Given the description of an element on the screen output the (x, y) to click on. 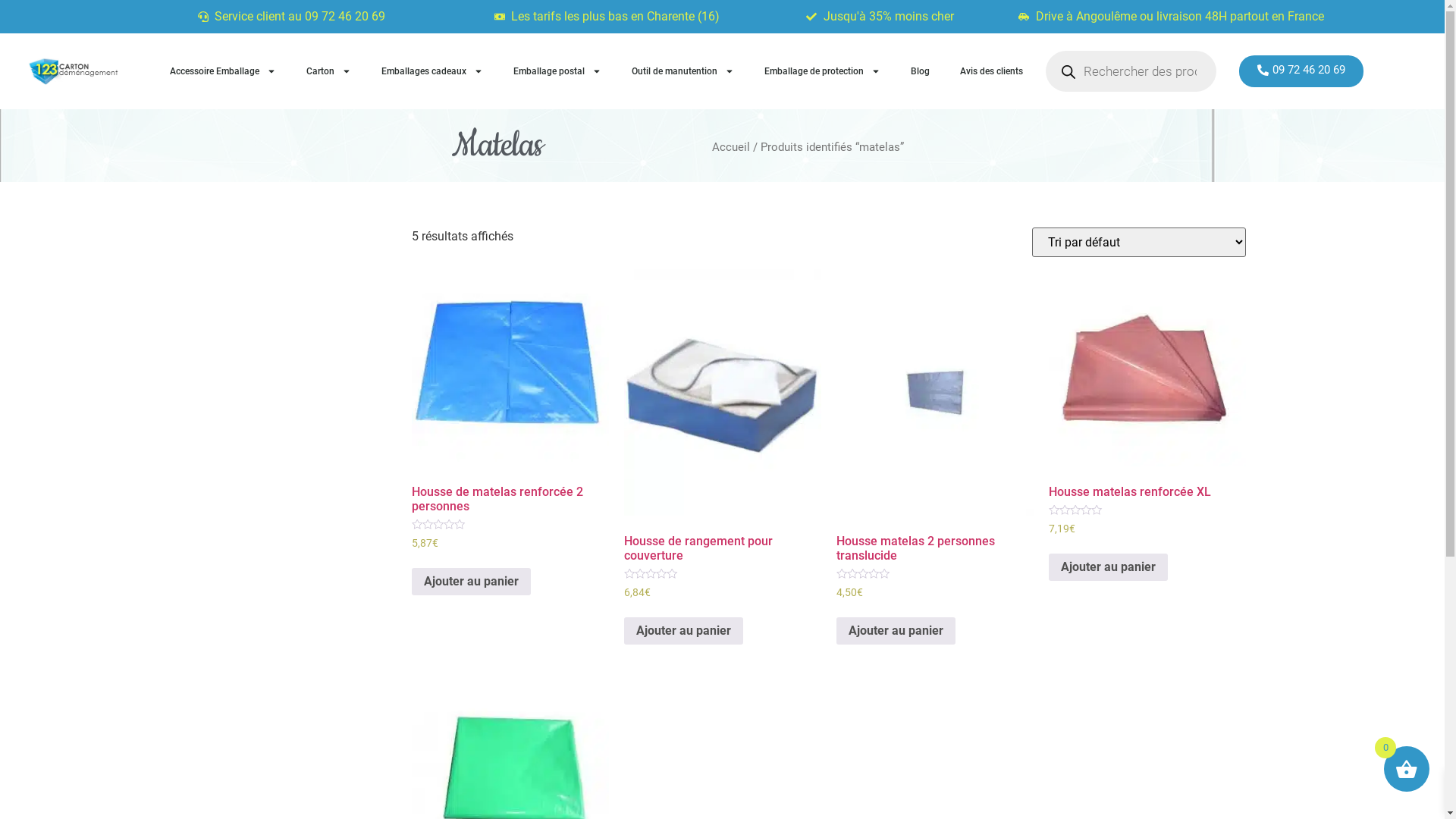
Outil de manutention Element type: text (682, 71)
Ajouter au panier Element type: text (682, 630)
Blog Element type: text (919, 71)
Ajouter au panier Element type: text (1107, 566)
Ajouter au panier Element type: text (470, 581)
Ajouter au panier Element type: text (894, 630)
Accueil Element type: text (730, 146)
Emballage postal Element type: text (557, 71)
09 72 46 20 69 Element type: text (1301, 71)
Carton Element type: text (328, 71)
Emballages cadeaux Element type: text (432, 71)
Accessoire Emballage Element type: text (222, 71)
Emballage de protection Element type: text (822, 71)
Avis des clients Element type: text (991, 71)
